Given the description of an element on the screen output the (x, y) to click on. 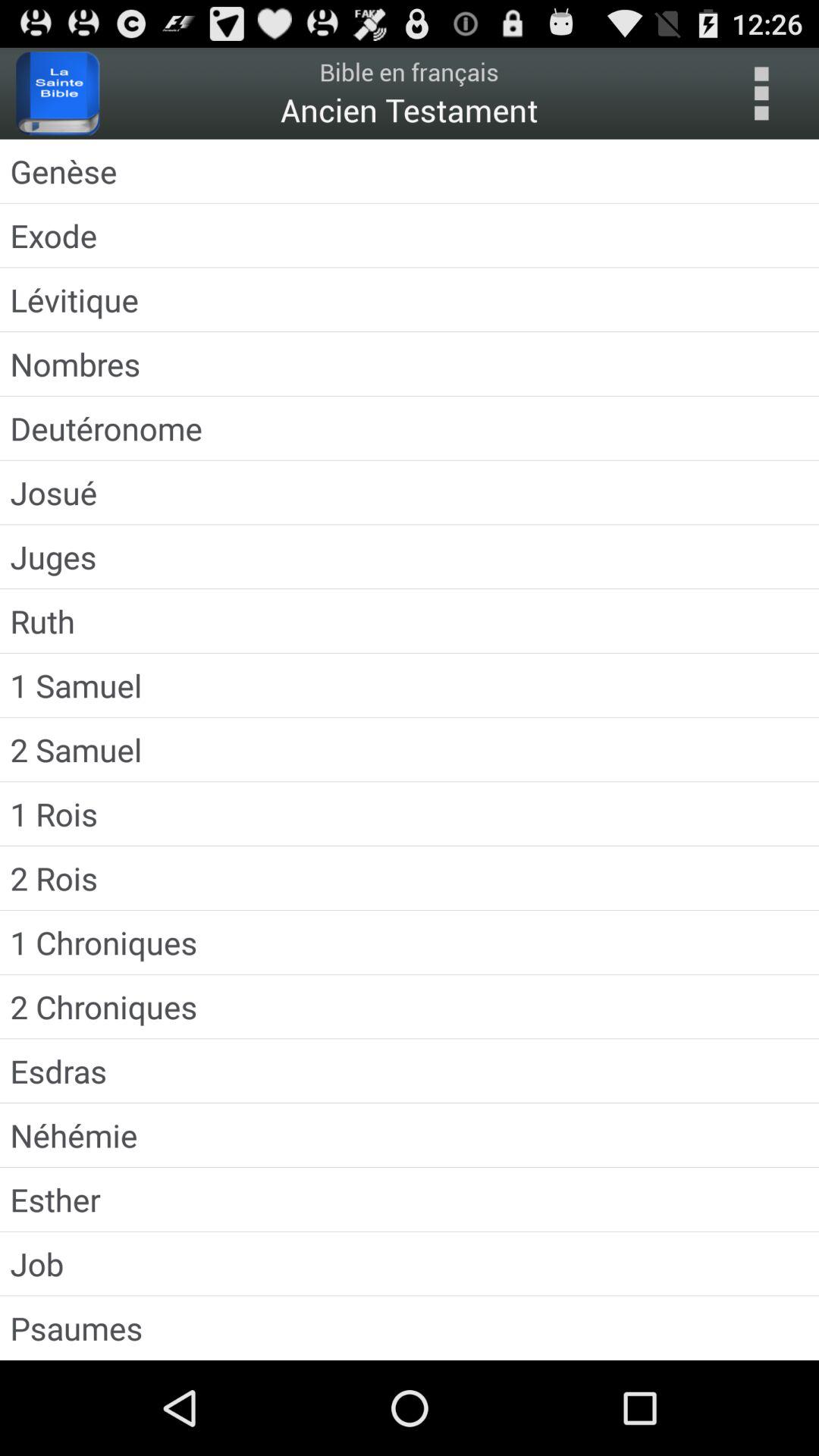
go to menu options (761, 93)
